Given the description of an element on the screen output the (x, y) to click on. 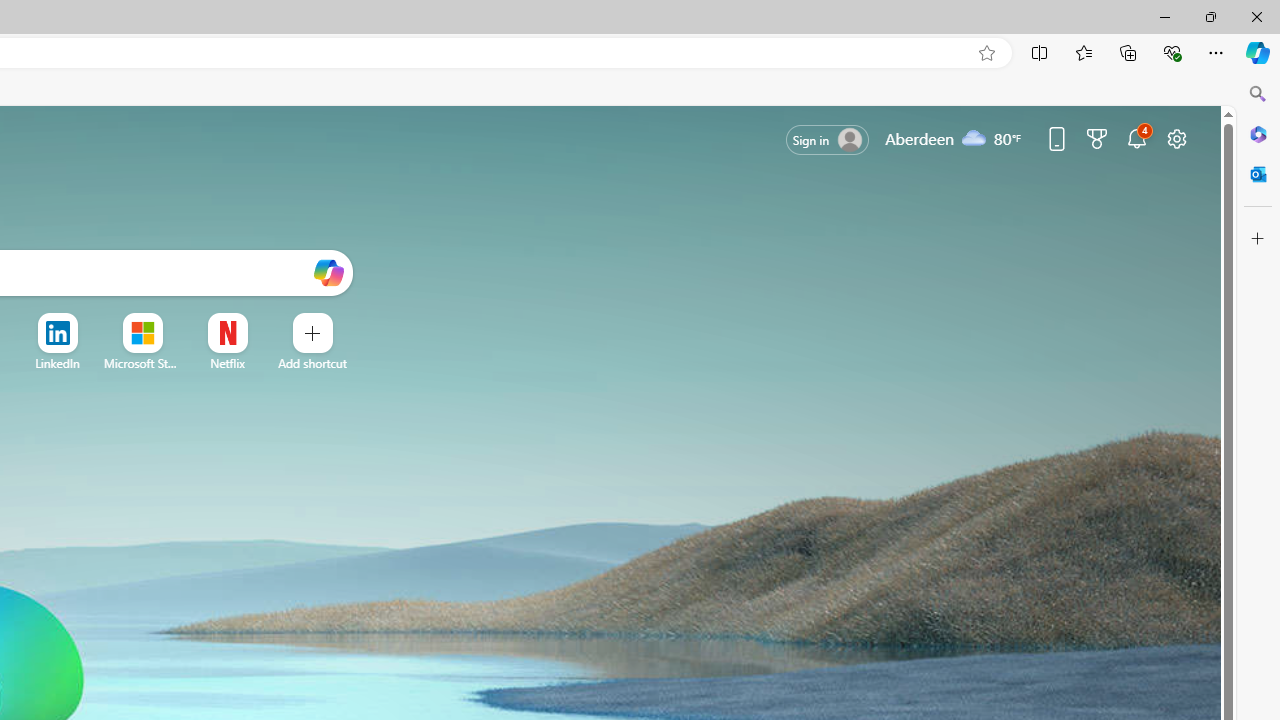
Outlook (1258, 174)
Customize (1258, 239)
